Given the description of an element on the screen output the (x, y) to click on. 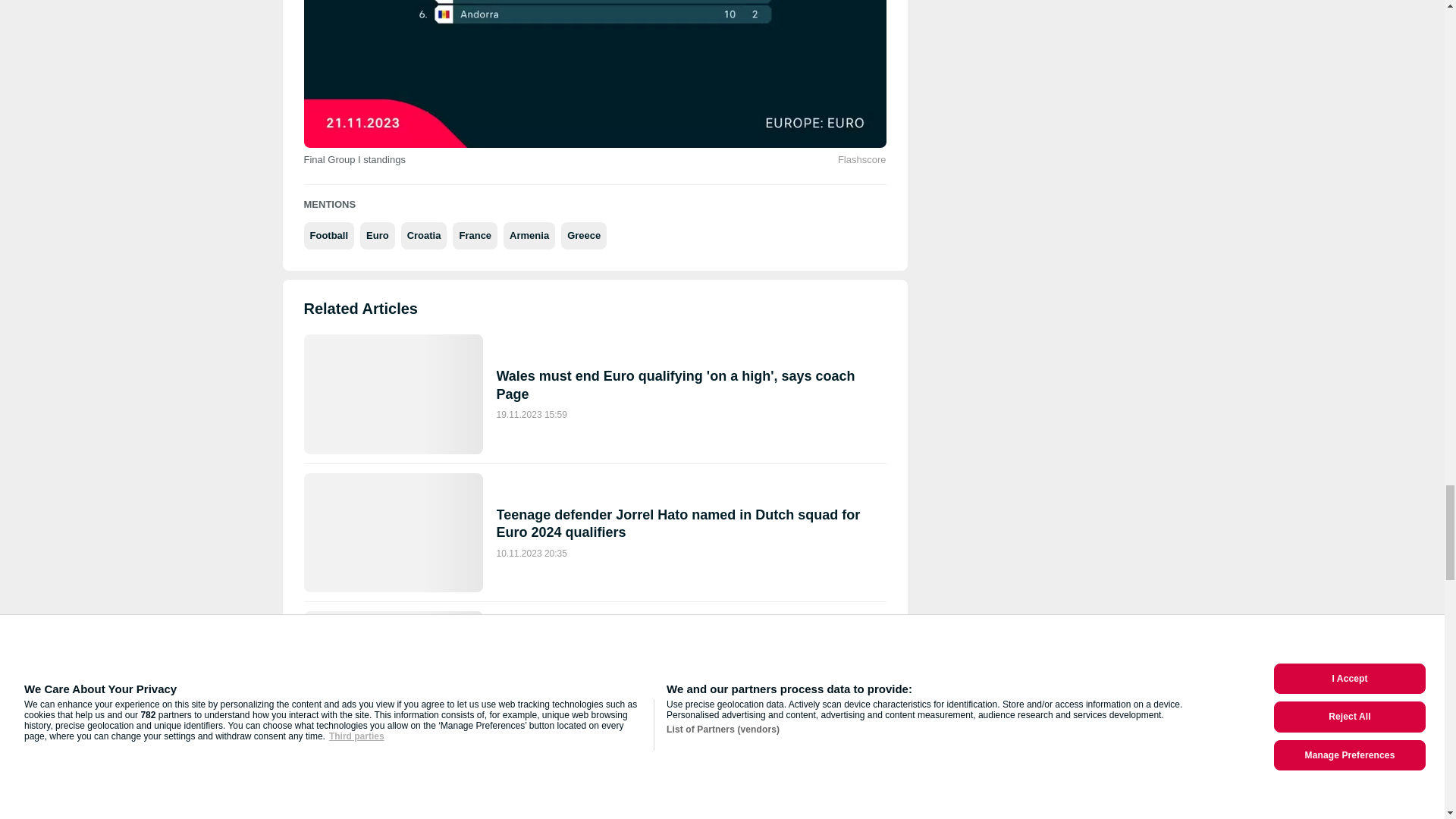
Greece (583, 235)
Football (327, 235)
Final Group I standings (593, 74)
France (474, 235)
Croatia (423, 235)
Euro (376, 235)
Armenia (528, 235)
